Given the description of an element on the screen output the (x, y) to click on. 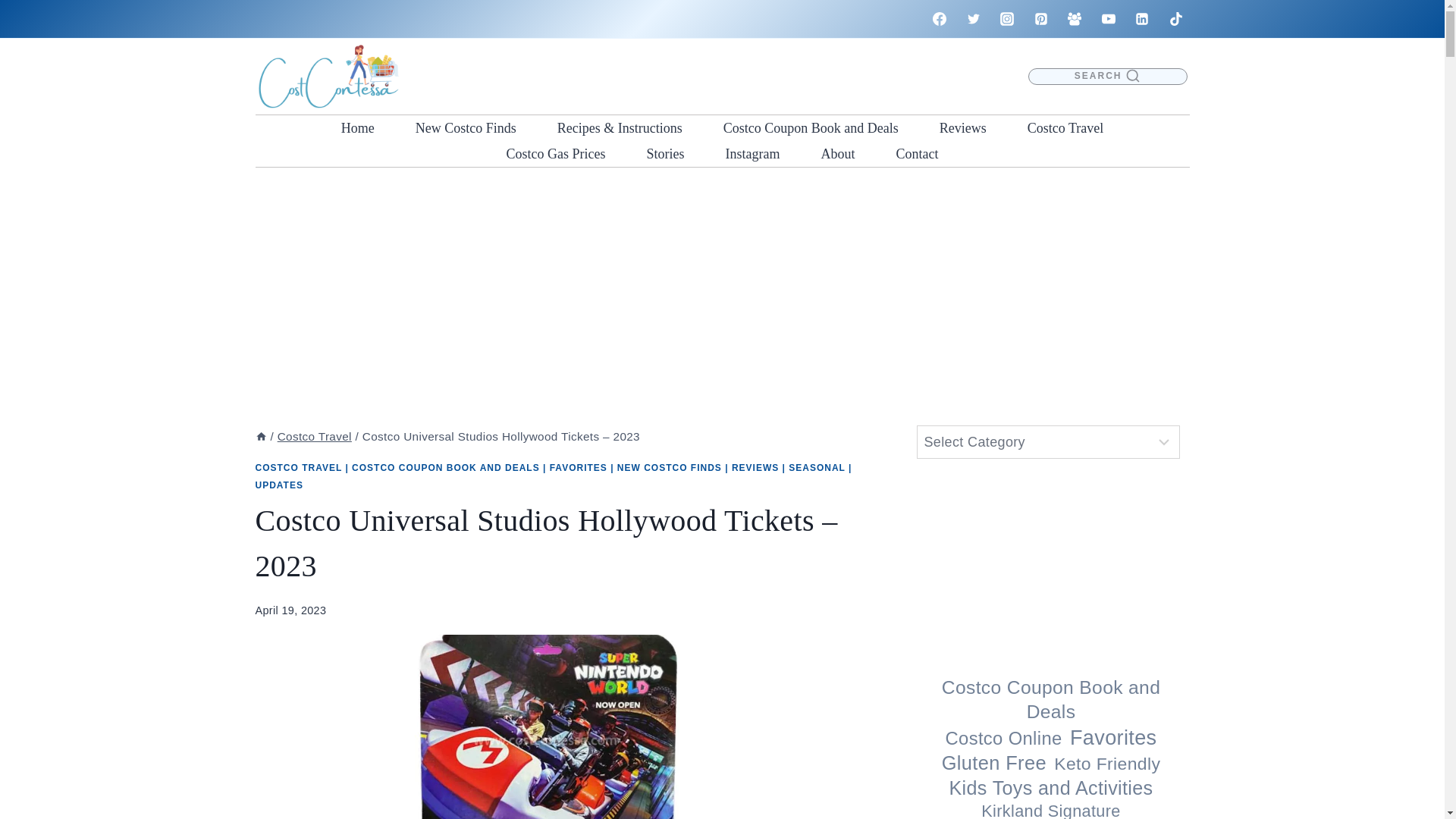
COSTCO COUPON BOOK AND DEALS (446, 467)
New Costco Finds (465, 127)
Costco Universal Studios Hollywood Tickets - 2023 1 (560, 726)
COSTCO TRAVEL (298, 467)
Reviews (962, 127)
Instagram (752, 153)
REVIEWS (755, 467)
Stories (665, 153)
Costco Travel (1065, 127)
FAVORITES (578, 467)
